Given the description of an element on the screen output the (x, y) to click on. 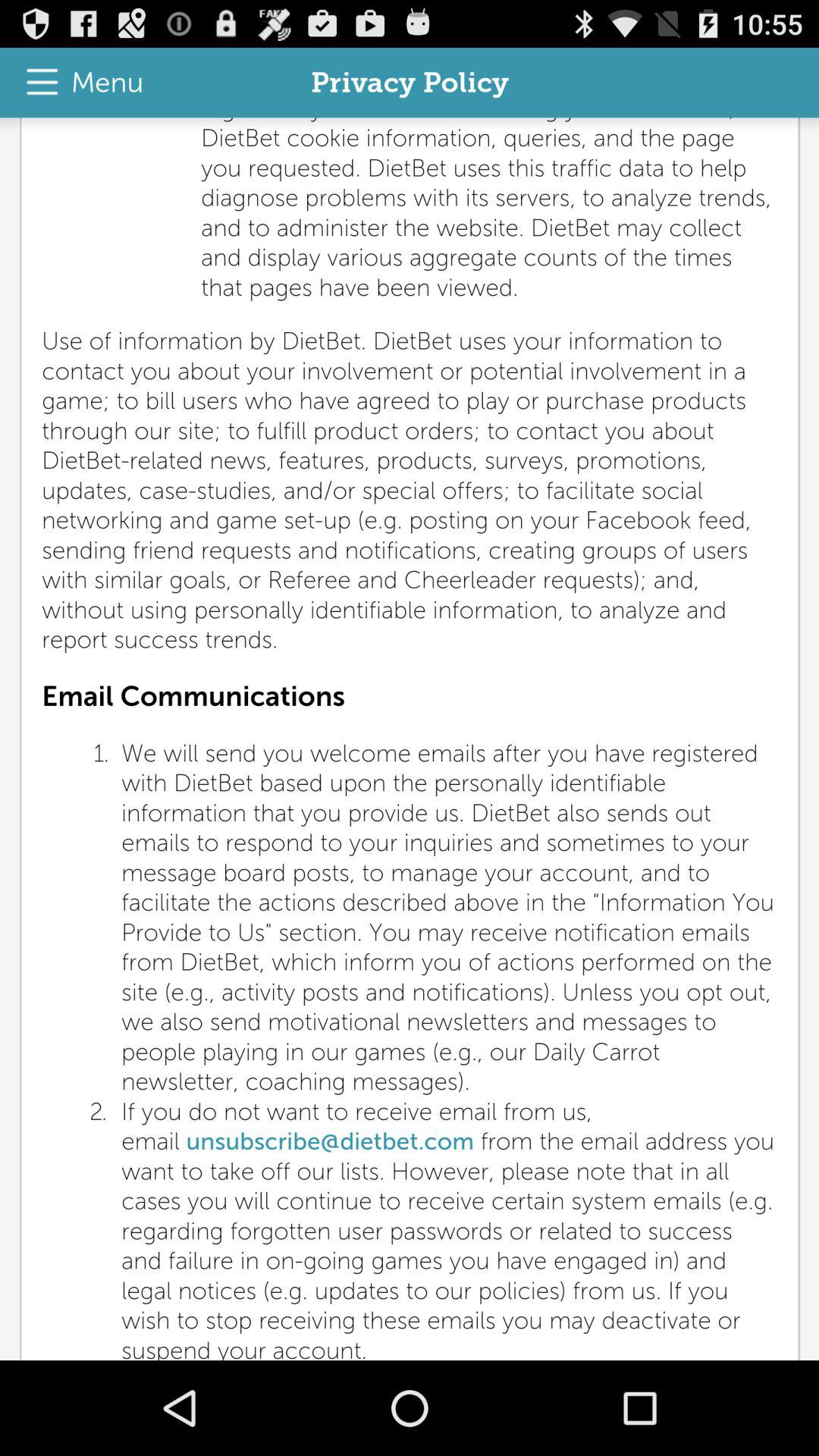
choose the app below the menu item (409, 738)
